Given the description of an element on the screen output the (x, y) to click on. 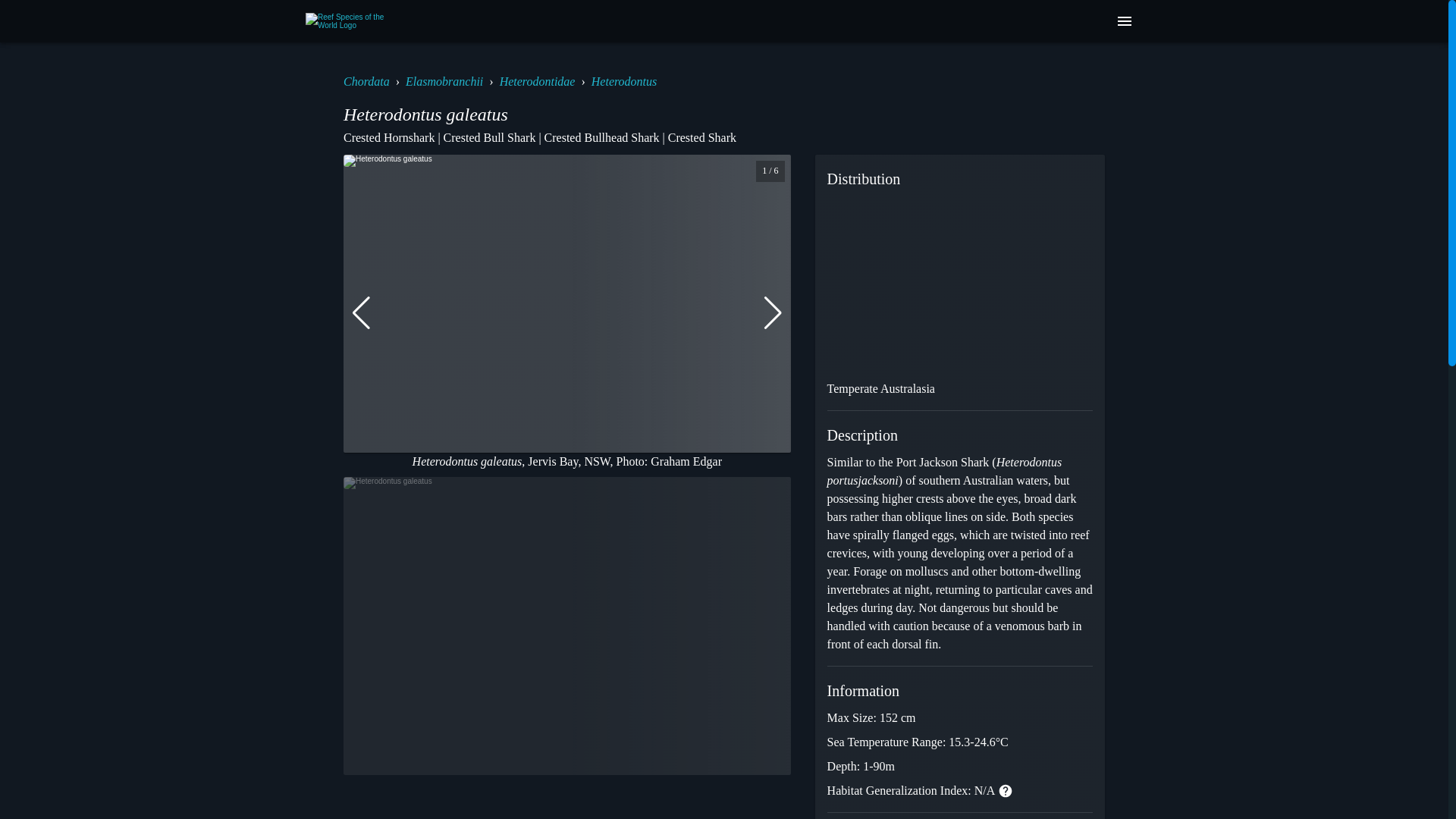
Heterodontidae (537, 81)
Elasmobranchii (444, 81)
Chordata (366, 81)
Heterodontus (624, 81)
